Given the description of an element on the screen output the (x, y) to click on. 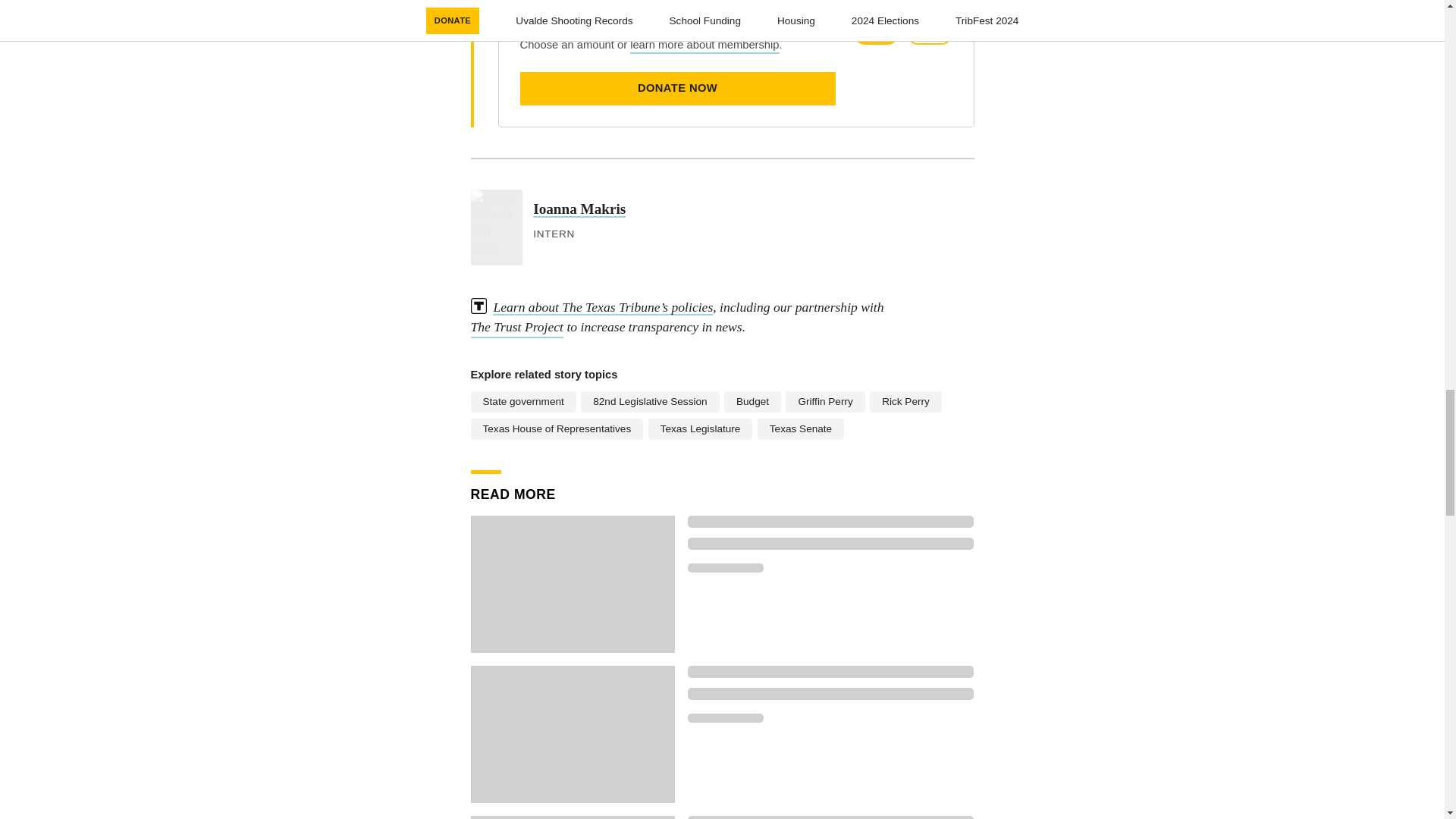
Loading indicator (830, 693)
Loading indicator (830, 671)
Loading indicator (830, 817)
Loading indicator (724, 567)
Loading indicator (830, 521)
Loading indicator (830, 543)
Loading indicator (724, 717)
